Given the description of an element on the screen output the (x, y) to click on. 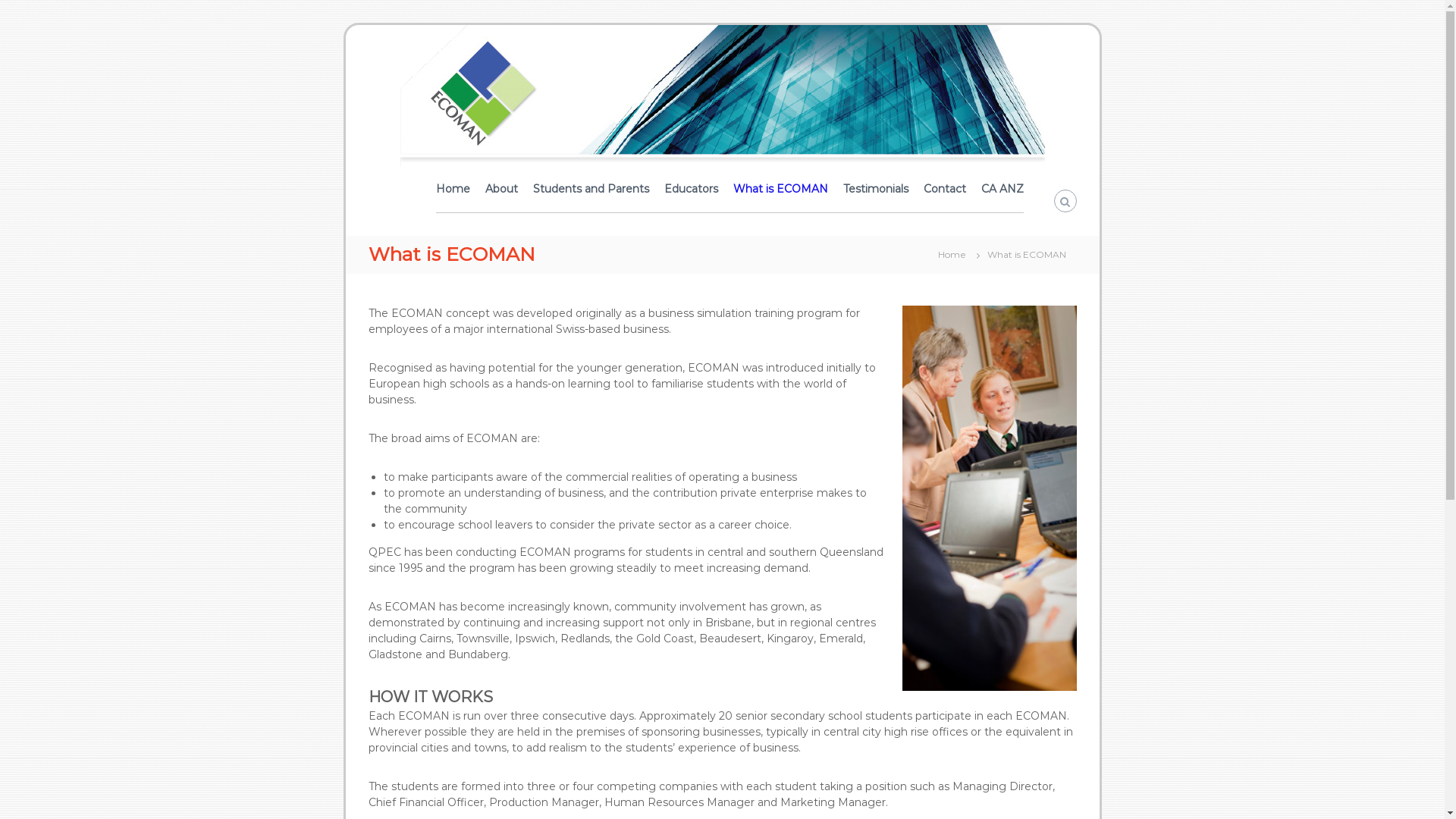
Home Element type: text (452, 188)
Students and Parents Element type: text (590, 188)
CA ANZ Element type: text (1002, 188)
What is ECOMAN Element type: text (779, 188)
Skip to content Element type: text (344, 24)
Home Element type: text (950, 253)
About Element type: text (501, 188)
Testimonials Element type: text (875, 188)
Contact Element type: text (944, 188)
QPEC Element type: text (384, 236)
Educators Element type: text (691, 188)
